Given the description of an element on the screen output the (x, y) to click on. 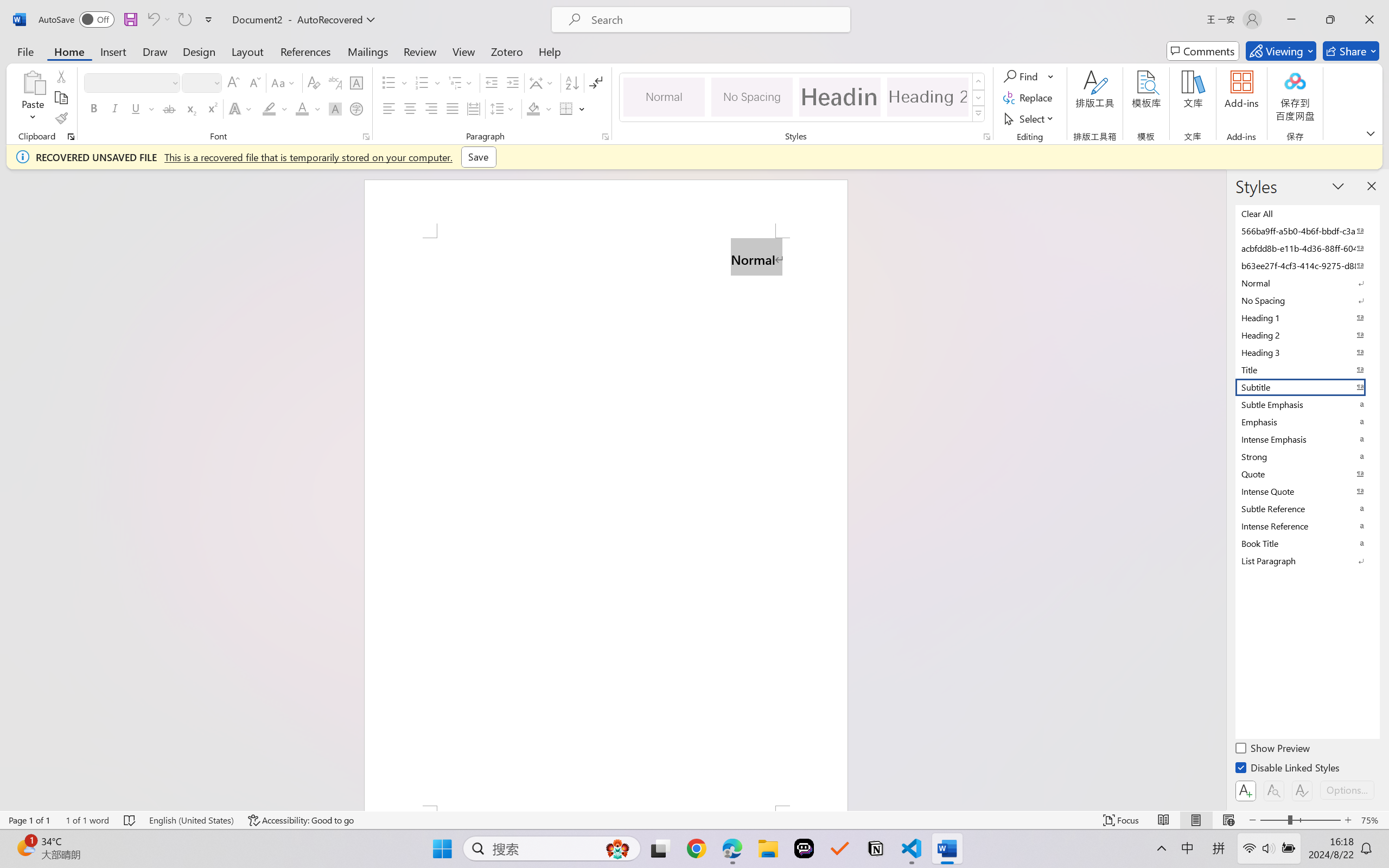
Zoom 75% (1372, 819)
Strong (1306, 456)
Text Effects and Typography (241, 108)
Shrink Font (253, 82)
Subtle Emphasis (1306, 404)
Paragraph... (605, 136)
Format Painter (60, 118)
Character Border (356, 82)
Font... (365, 136)
Asian Layout (542, 82)
